Given the description of an element on the screen output the (x, y) to click on. 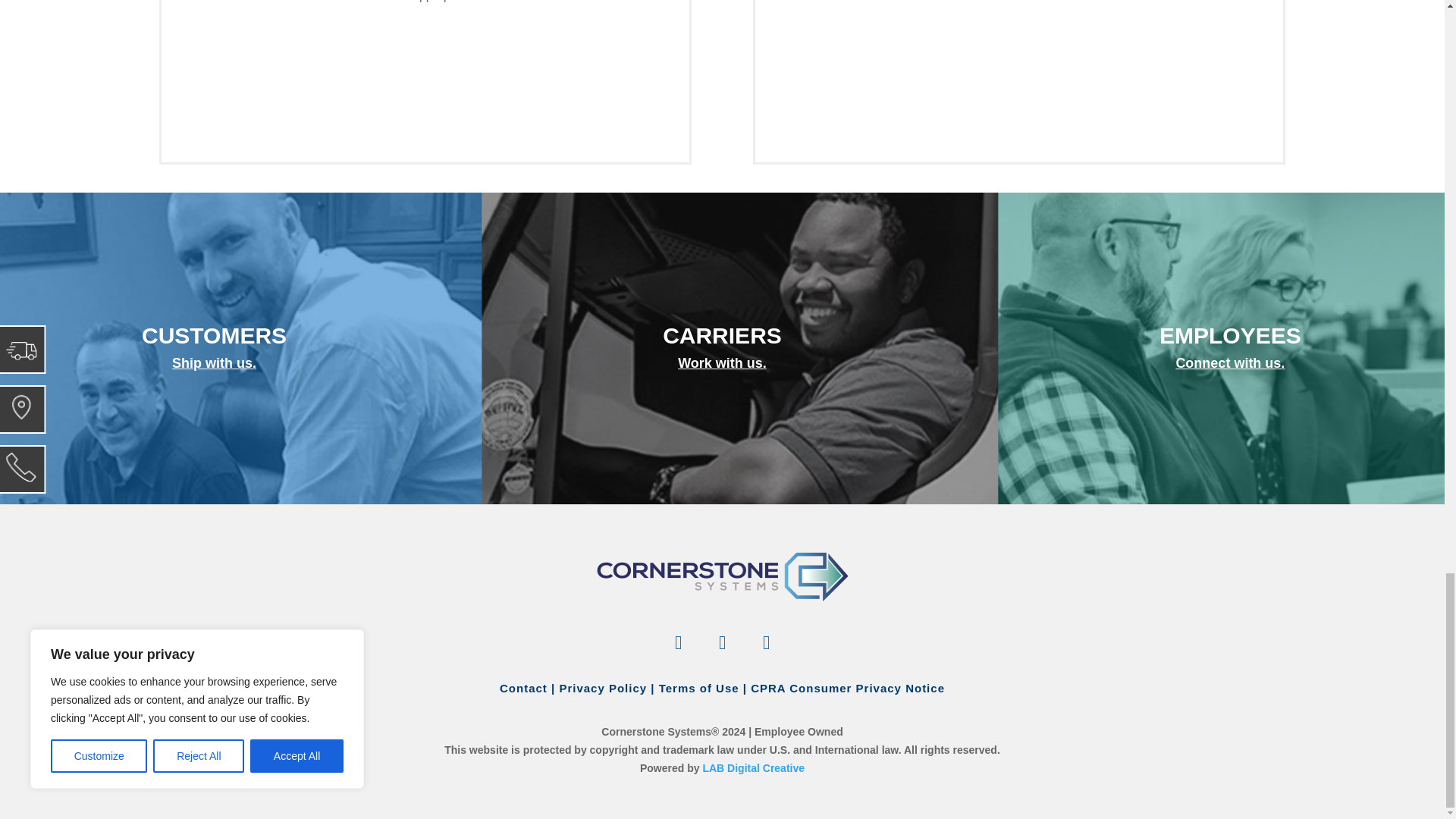
Follow on LinkedIn (722, 642)
Follow on Instagram (767, 642)
Follow on Facebook (678, 642)
